Given the description of an element on the screen output the (x, y) to click on. 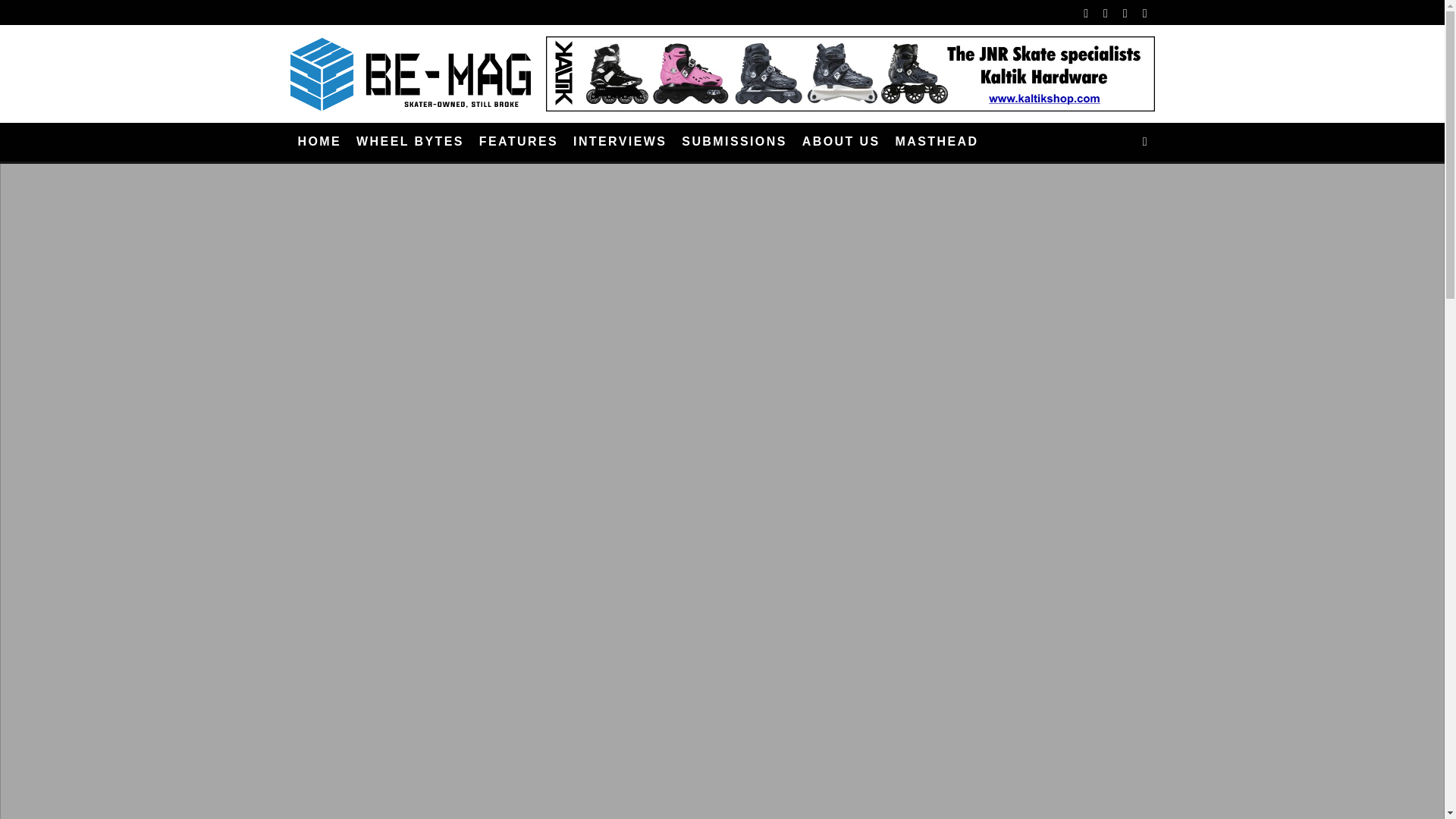
FEATURES (518, 141)
HOME (319, 141)
WHEEL BYTES (410, 141)
